Given the description of an element on the screen output the (x, y) to click on. 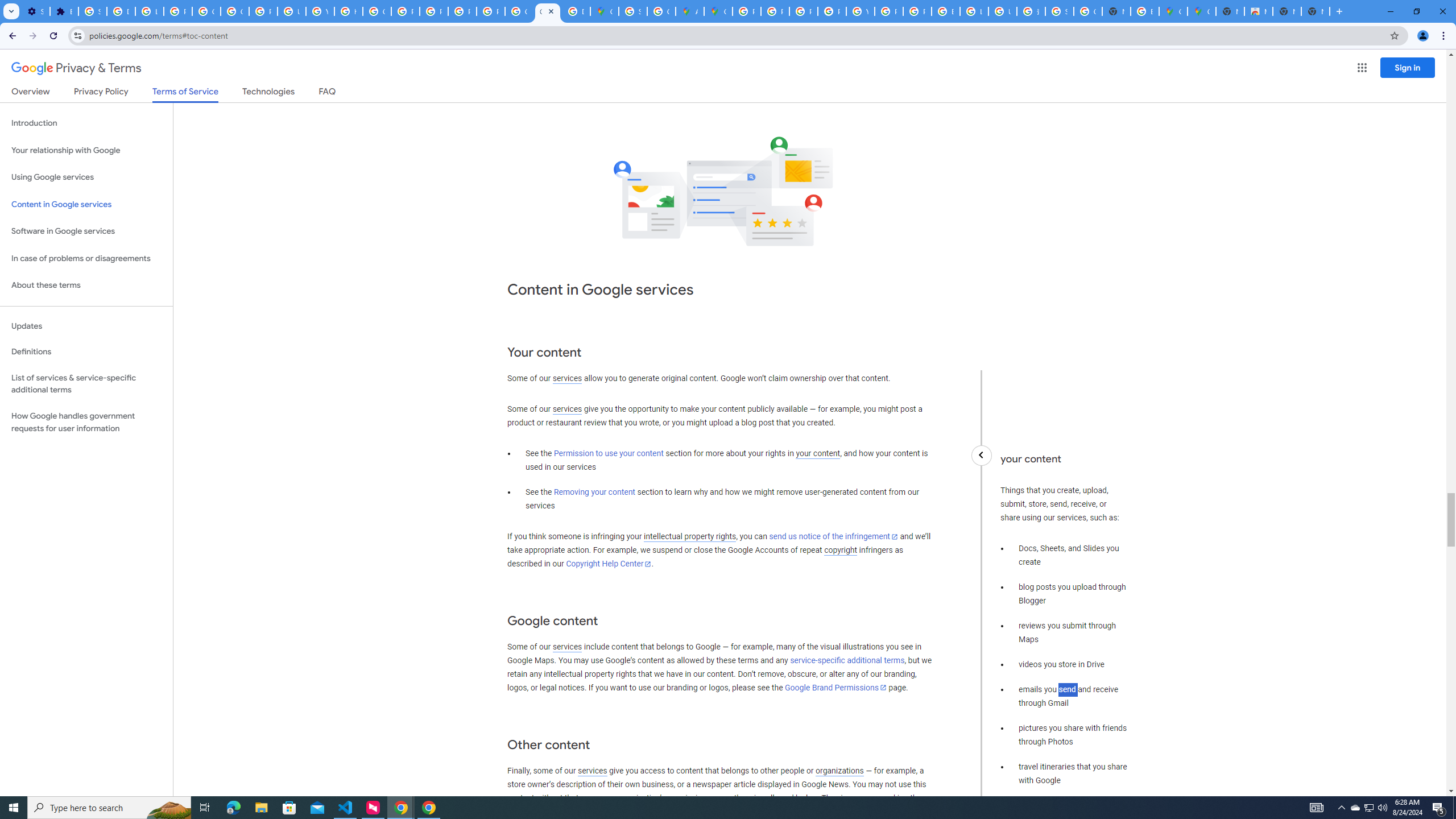
Updates (86, 325)
Policy Accountability and Transparency - Transparency Center (746, 11)
Learn how to find your photos - Google Photos Help (148, 11)
Terms of Service (184, 94)
Introduction (86, 122)
intellectual property rights (689, 536)
